Given the description of an element on the screen output the (x, y) to click on. 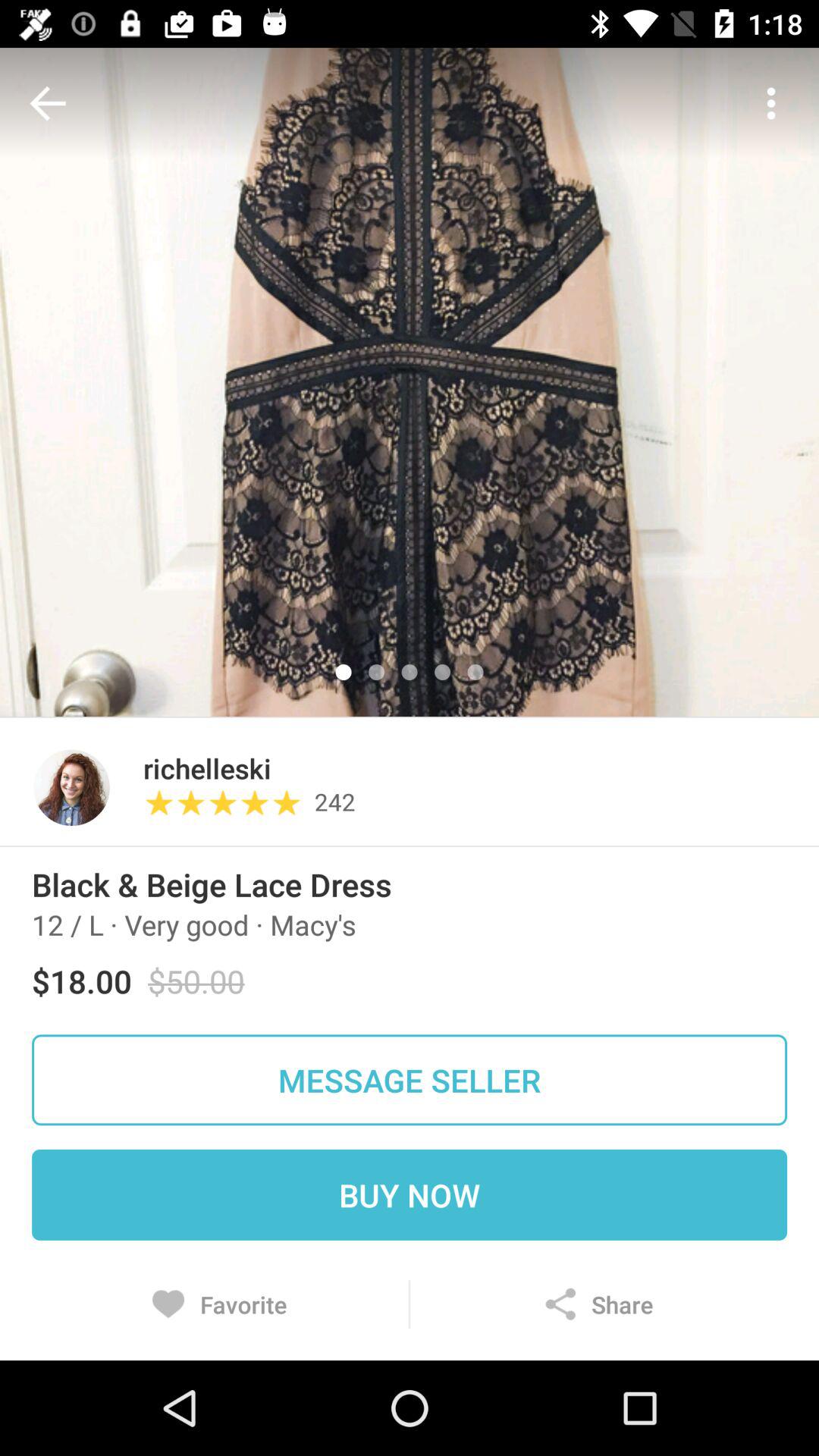
open icon next to favorite item (598, 1304)
